Given the description of an element on the screen output the (x, y) to click on. 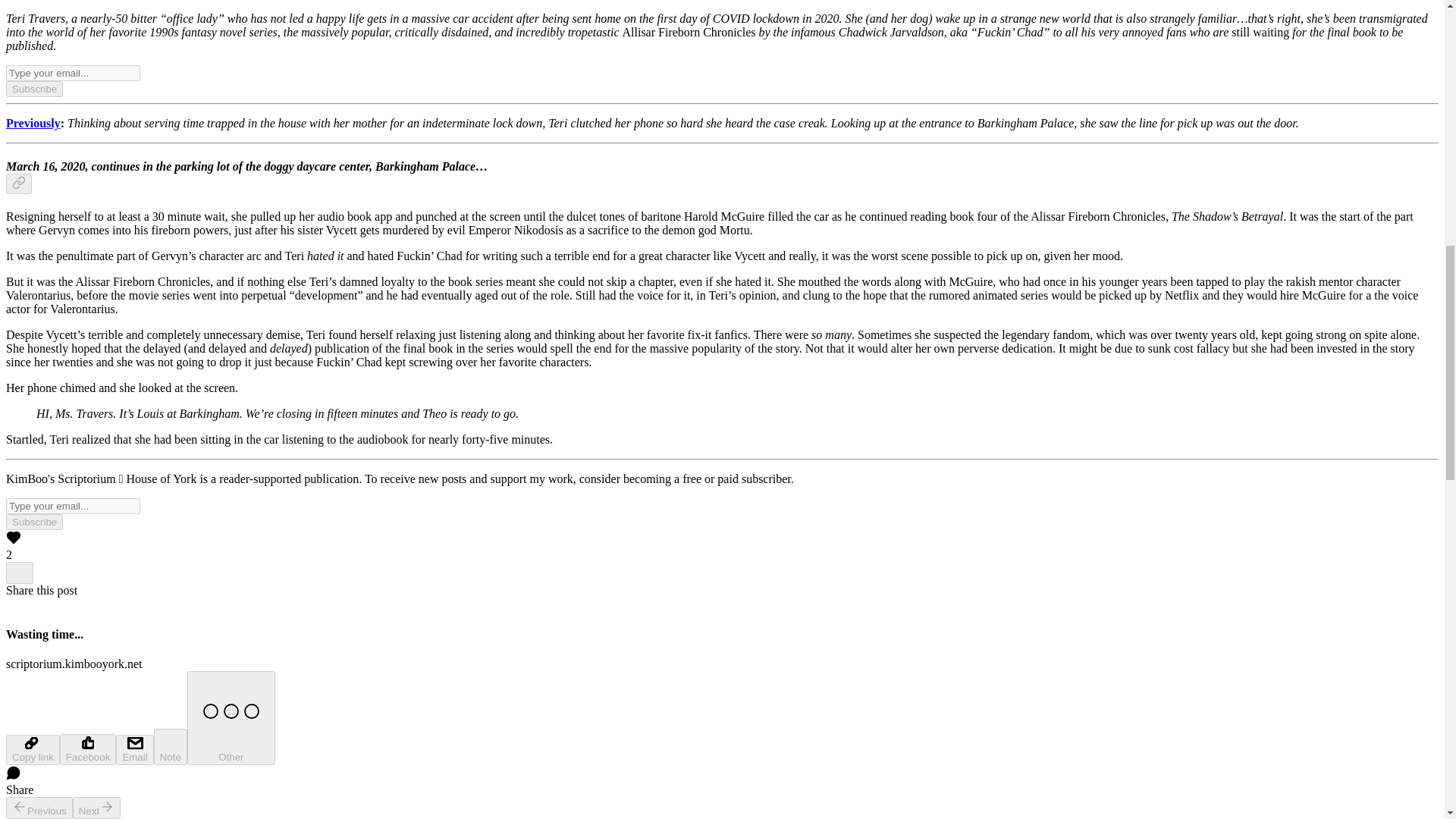
Copy link (32, 749)
Note (170, 746)
Previous (38, 807)
Next (96, 807)
Subscribe (33, 89)
Subscribe (33, 521)
Facebook (87, 748)
Email (134, 749)
Previously (33, 123)
Other (231, 717)
